Given the description of an element on the screen output the (x, y) to click on. 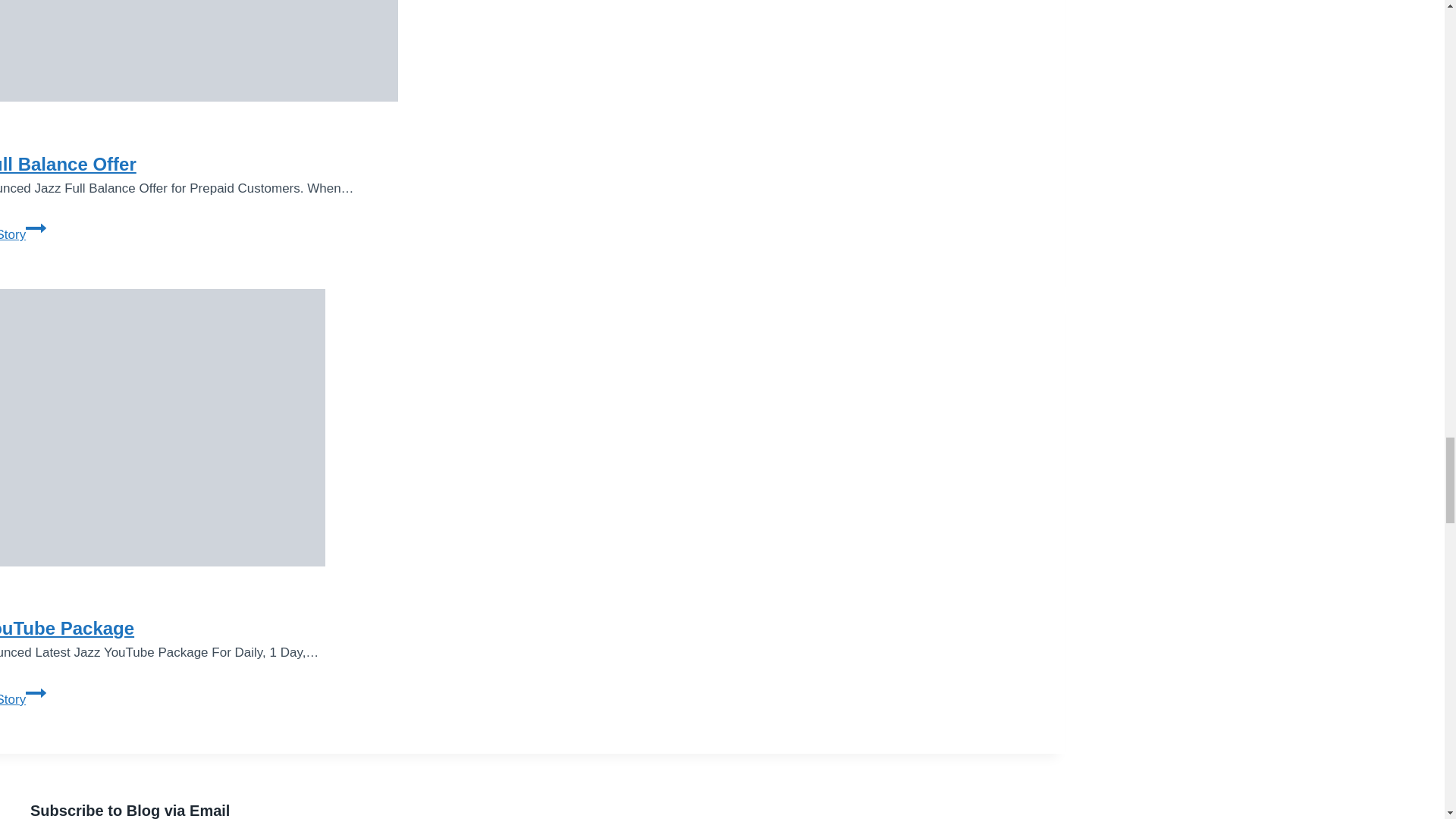
Jazz Full Balance Offer 7 (198, 50)
Jazz YouTube Package 8 (162, 427)
Continue (36, 228)
Continue (36, 692)
